Given the description of an element on the screen output the (x, y) to click on. 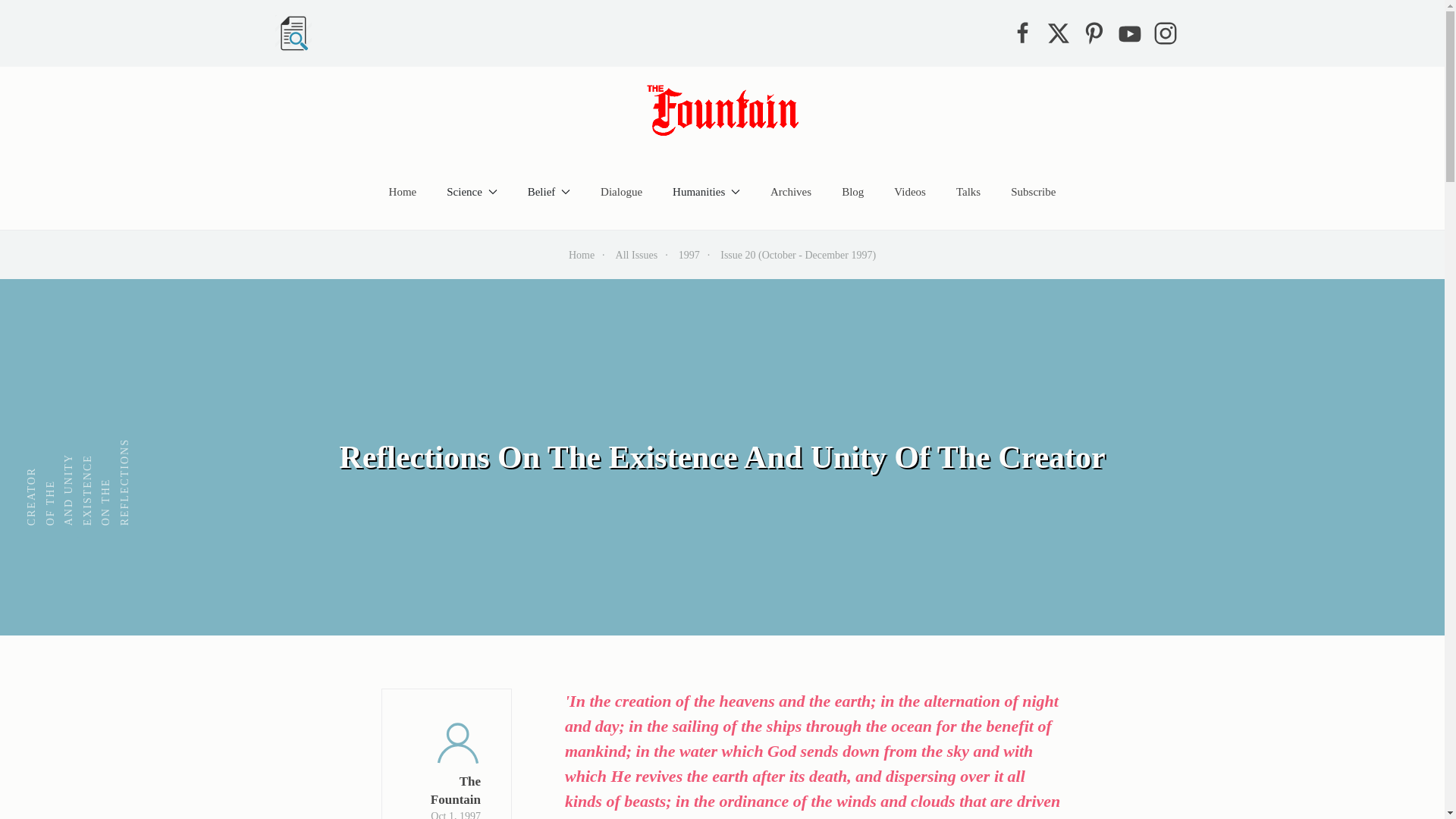
Search (293, 33)
